Given the description of an element on the screen output the (x, y) to click on. 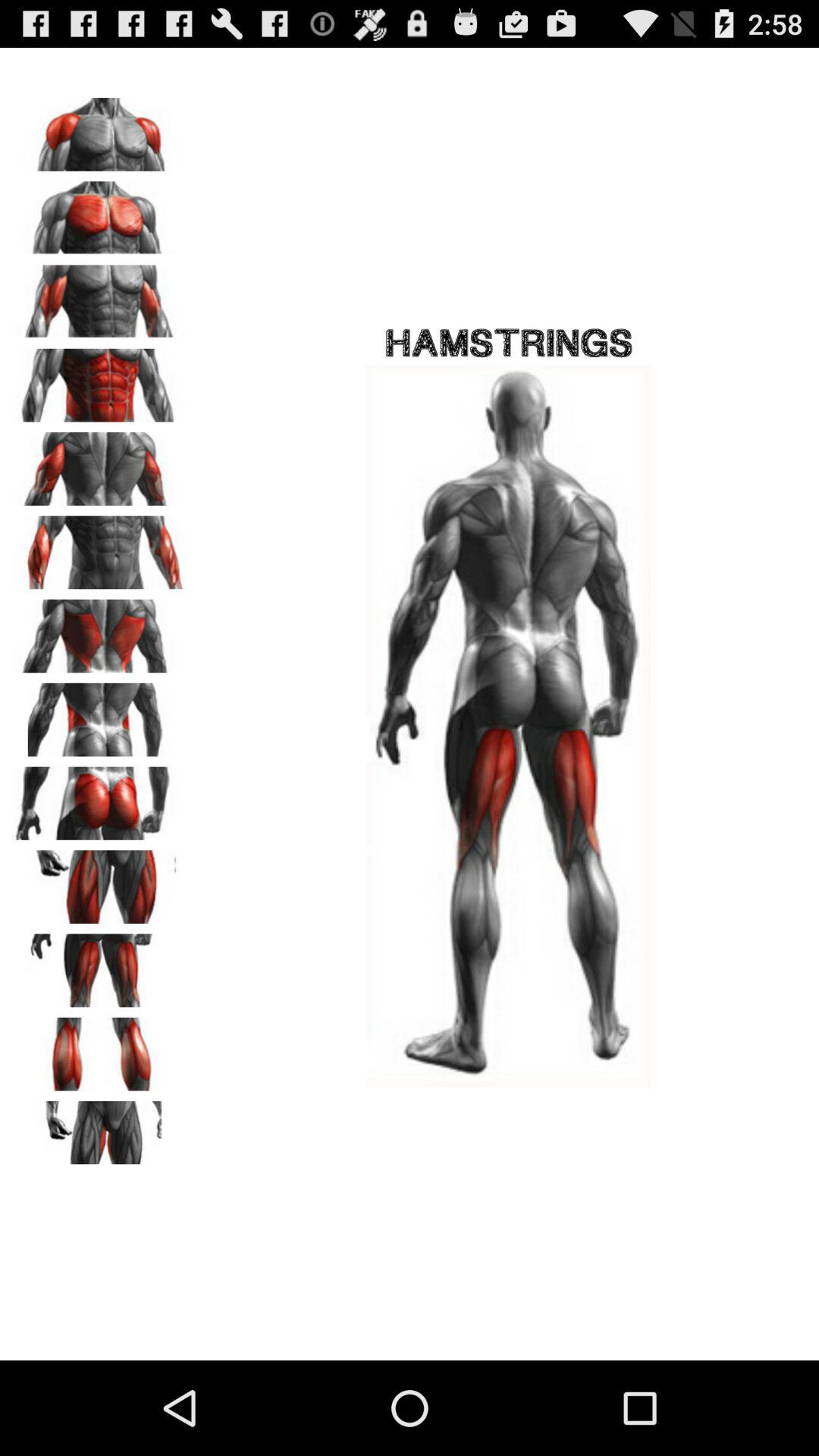
choose this image (99, 212)
